Given the description of an element on the screen output the (x, y) to click on. 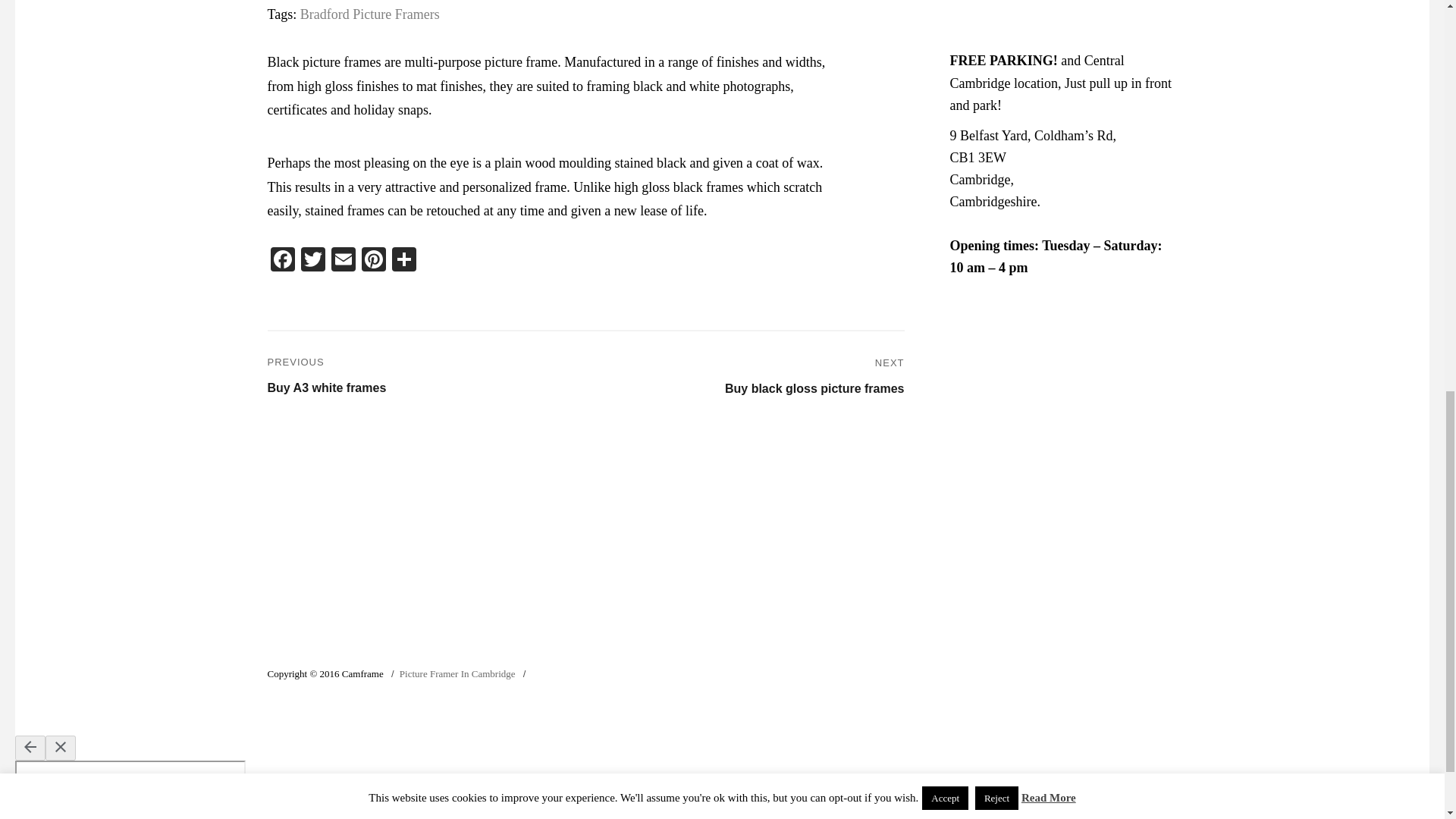
Pinterest (373, 261)
Email (342, 261)
Twitter (312, 261)
Share (325, 376)
Twitter (403, 261)
Email (312, 261)
Facebook (342, 261)
Pinterest (814, 377)
Facebook (281, 261)
Bradford Picture Framers (373, 261)
